Given the description of an element on the screen output the (x, y) to click on. 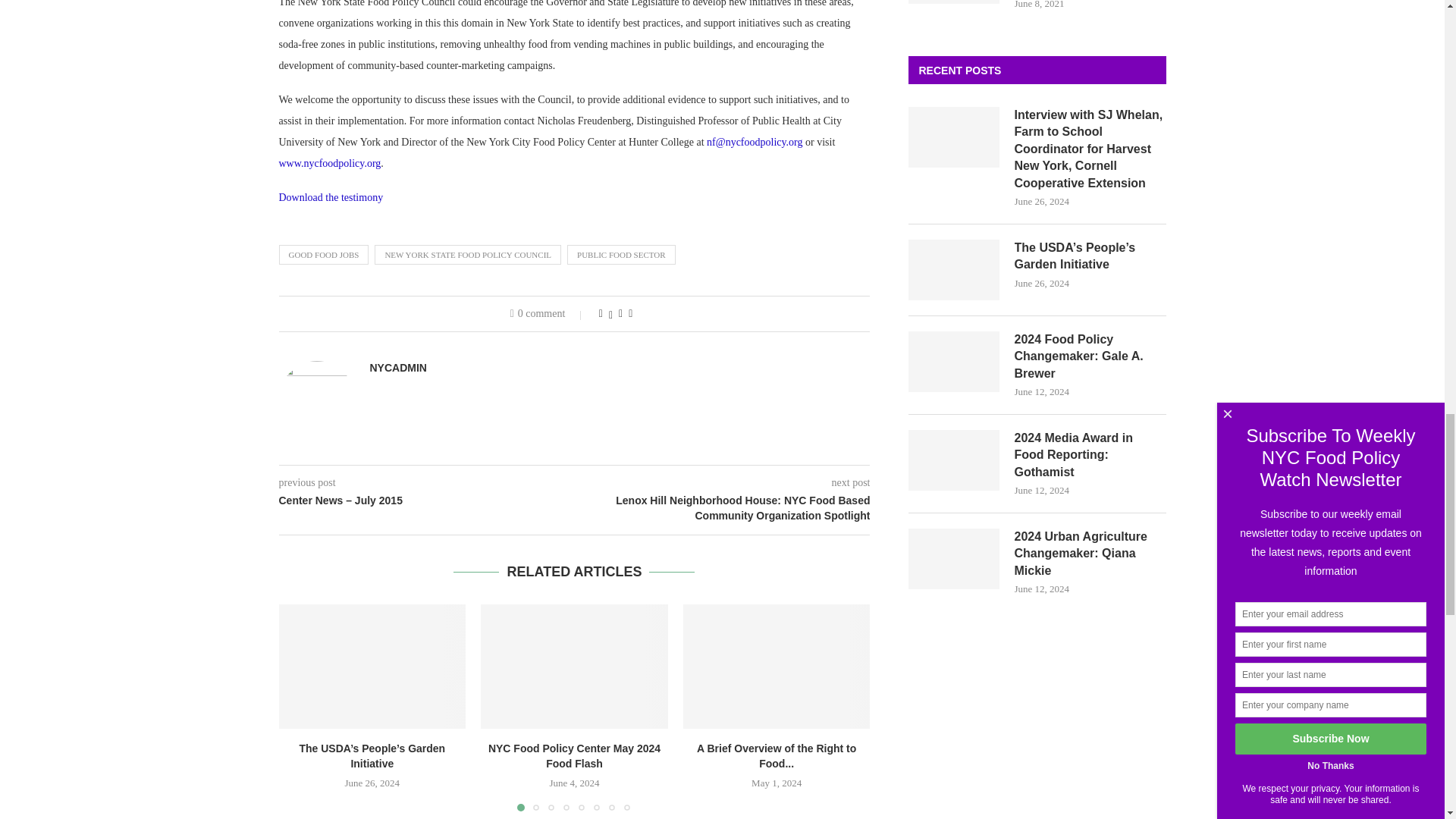
NYC Food Policy Center May 2024 Food Flash (574, 666)
Author nycadmin (397, 368)
A Brief Overview of the Right to Food in the United States (776, 666)
